Given the description of an element on the screen output the (x, y) to click on. 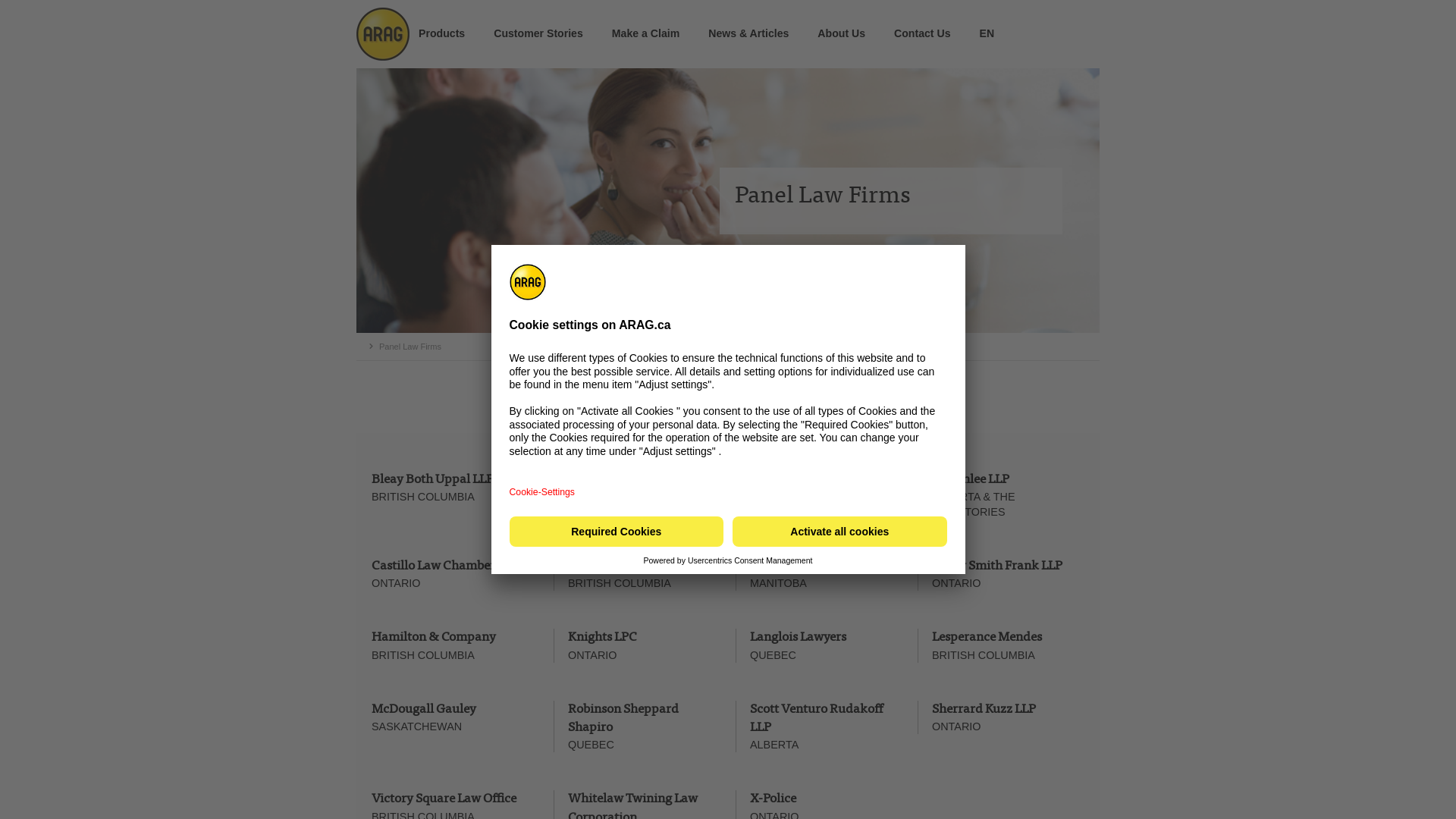
Panel Law firms  Element type: hover (727, 200)
Link to homepage Element type: hover (378, 33)
